Given the description of an element on the screen output the (x, y) to click on. 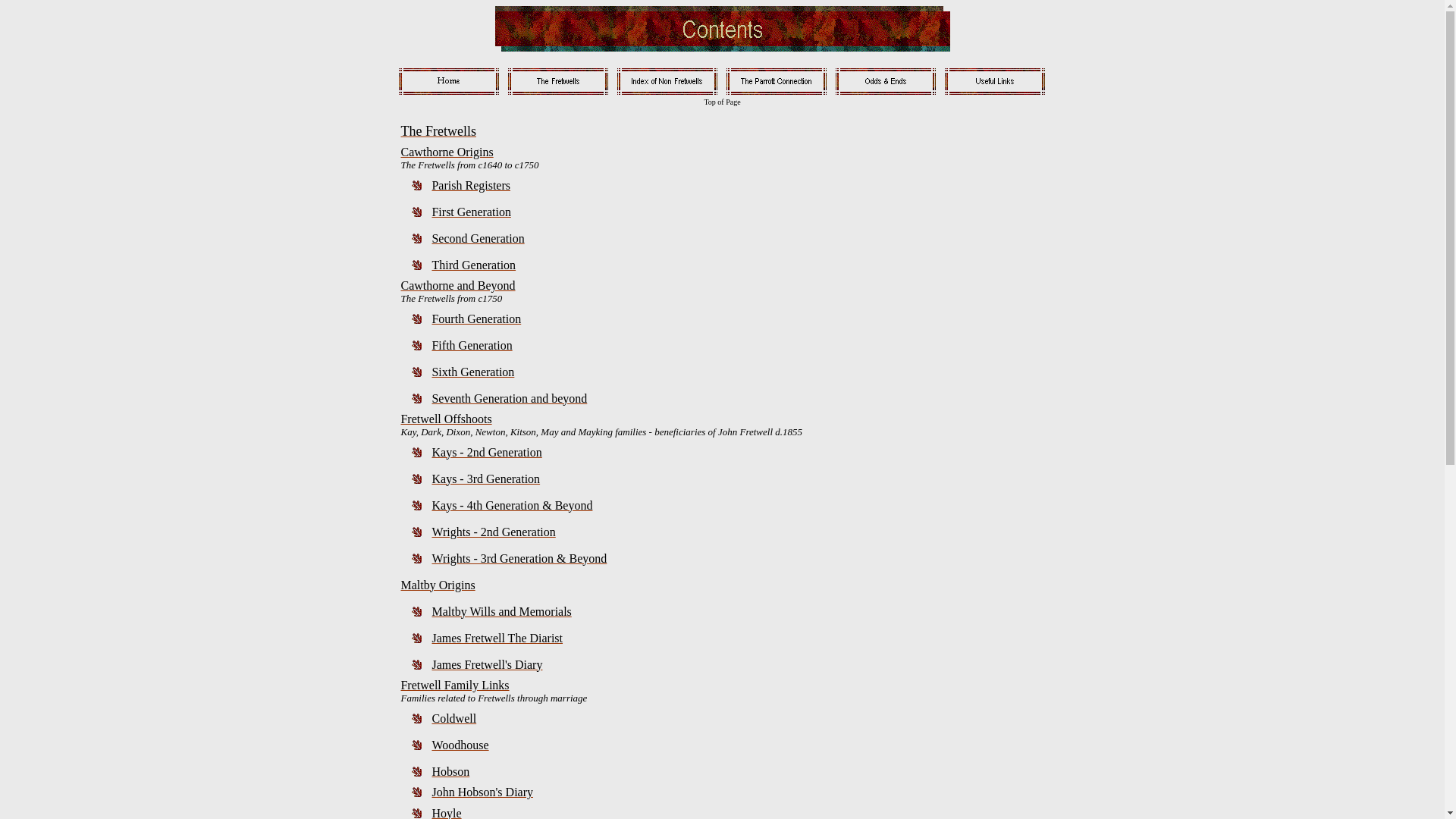
James Fretwell's Diary Element type: text (486, 664)
Second Generation Element type: text (477, 238)
James Fretwell The Diarist Element type: text (496, 636)
Maltby Wills and Memorials Element type: text (501, 611)
Hobson Element type: text (450, 770)
Kays - 3rd Generation Element type: text (485, 477)
Wrights - 3rd Generation & Beyond Element type: text (518, 558)
Cawthorne and Beyond Element type: text (457, 285)
Maltby Origins Element type: text (437, 583)
Top of Page Element type: text (721, 101)
First Generation Element type: text (470, 210)
Fifth Generation Element type: text (471, 344)
Seventh Generation and beyond Element type: text (508, 397)
John Hobson's Diary Element type: text (482, 791)
Coldwell Element type: text (453, 717)
Fourth Generation Element type: text (475, 318)
Kays - 4th Generation & Beyond Element type: text (511, 504)
The Fretwells Element type: text (437, 131)
Sixth Generation Element type: text (472, 371)
Third Generation Element type: text (473, 263)
Kays - 2nd Generation Element type: text (486, 451)
Cawthorne Origins Element type: text (446, 151)
Fretwell Offshoots Element type: text (445, 418)
Fretwell Family Links Element type: text (454, 684)
Wrights - 2nd Generation Element type: text (493, 530)
Woodhouse Element type: text (459, 744)
Parish Registers Element type: text (470, 184)
